Given the description of an element on the screen output the (x, y) to click on. 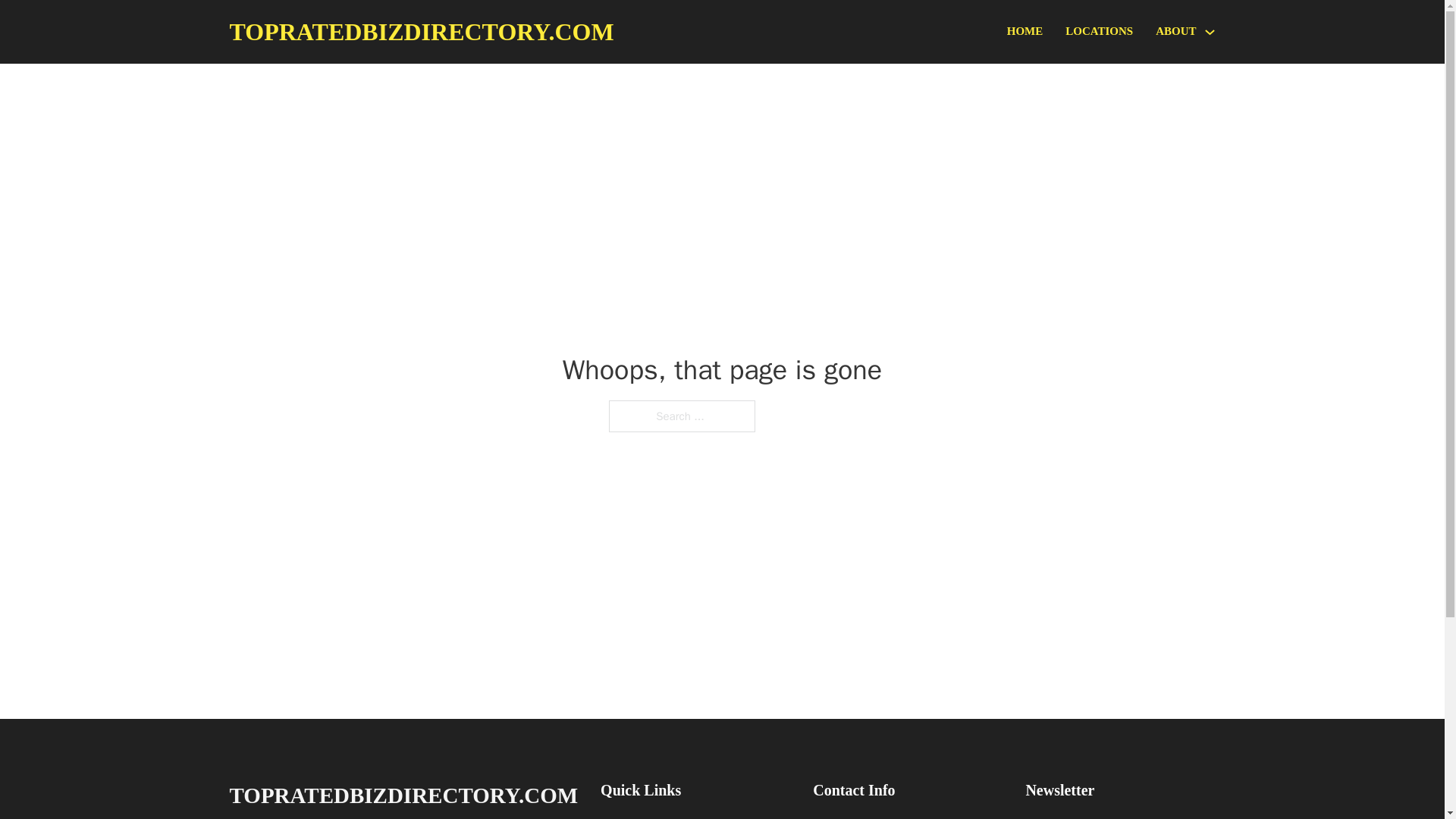
HOME (1025, 31)
TOPRATEDBIZDIRECTORY.COM (403, 795)
TOPRATEDBIZDIRECTORY.COM (420, 31)
LOCATIONS (1098, 31)
